Given the description of an element on the screen output the (x, y) to click on. 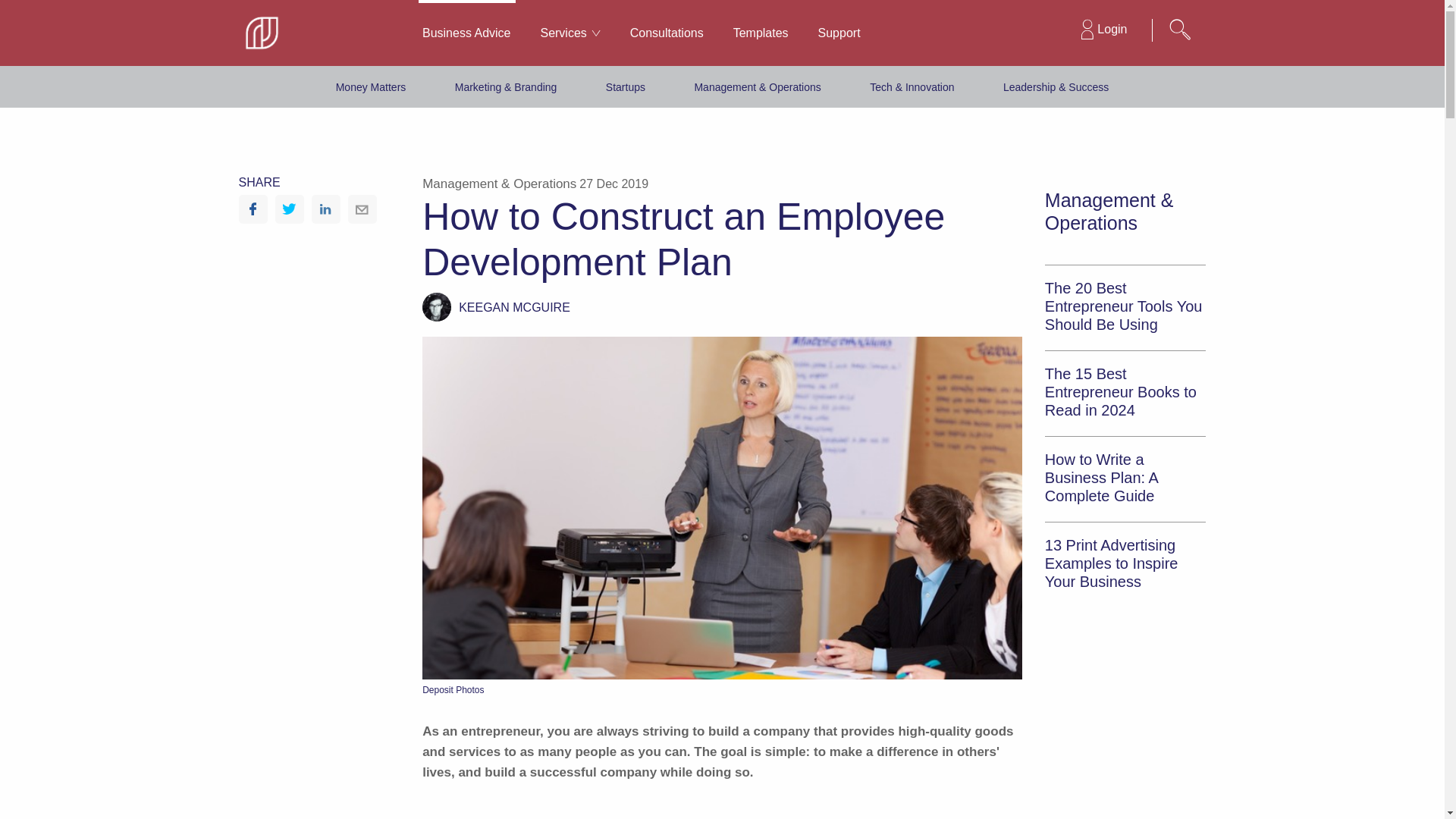
Business Advice (466, 33)
Templates (760, 33)
Services (570, 33)
Login (1103, 29)
Money Matters (371, 87)
Consultations (666, 33)
